Given the description of an element on the screen output the (x, y) to click on. 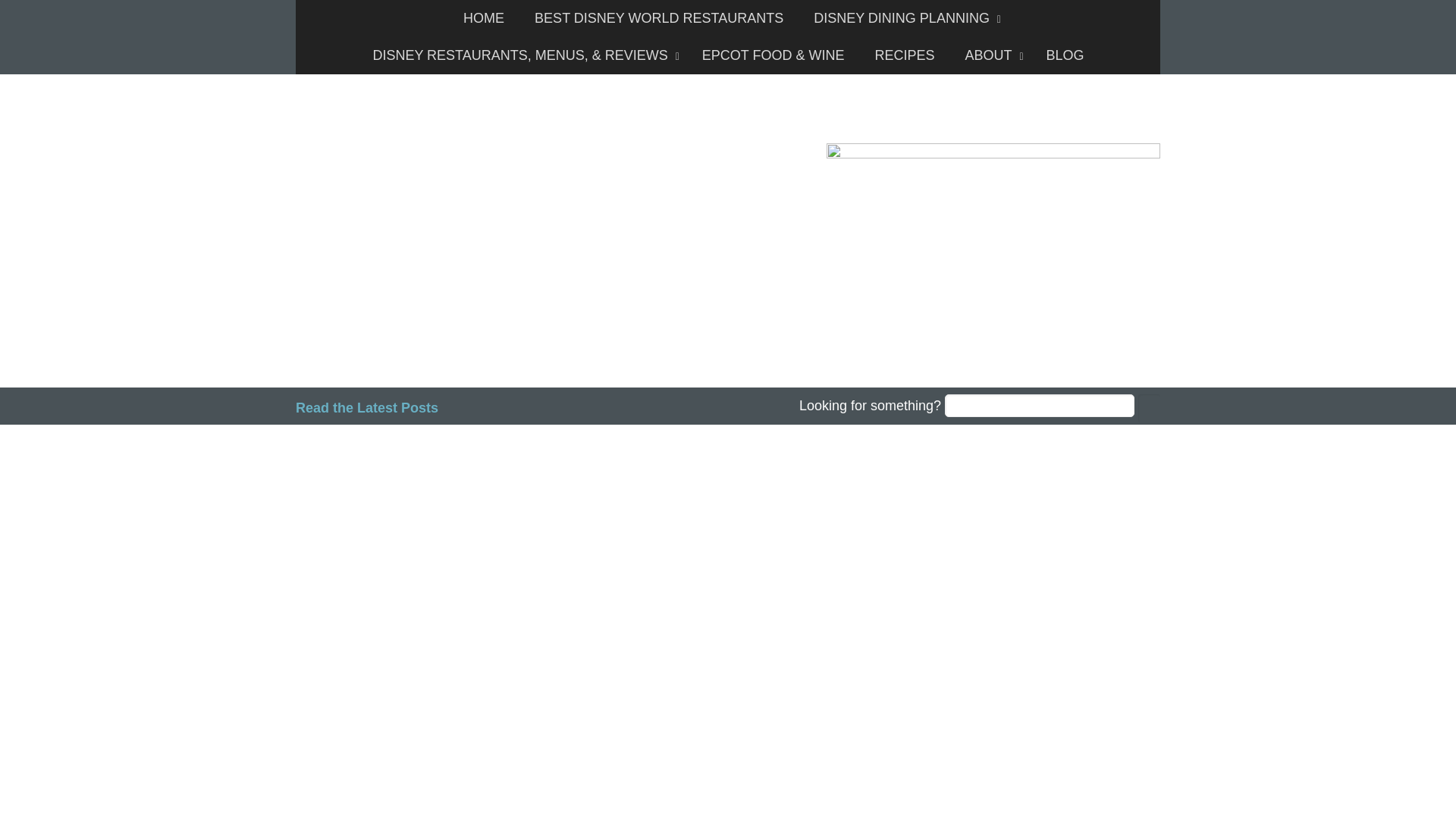
DISNEY DINING PLANNING (903, 18)
BEST DISNEY WORLD RESTAURANTS (658, 18)
HOME (483, 18)
